Given the description of an element on the screen output the (x, y) to click on. 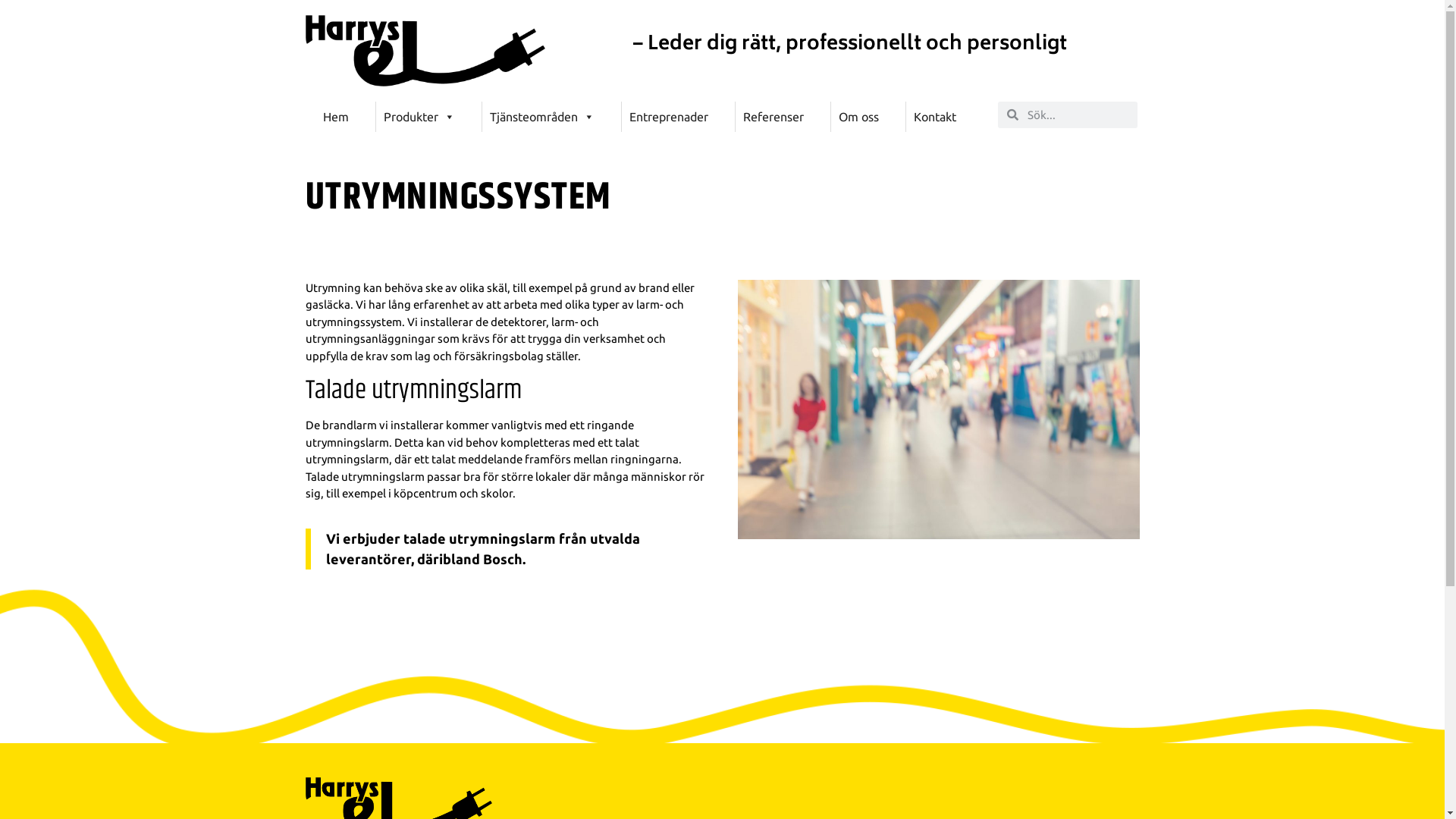
Om oss Element type: text (858, 116)
Entreprenader Element type: text (668, 116)
Referenser Element type: text (773, 116)
Produkter Element type: text (419, 116)
Hem Element type: text (335, 116)
Kontakt Element type: text (934, 116)
